Given the description of an element on the screen output the (x, y) to click on. 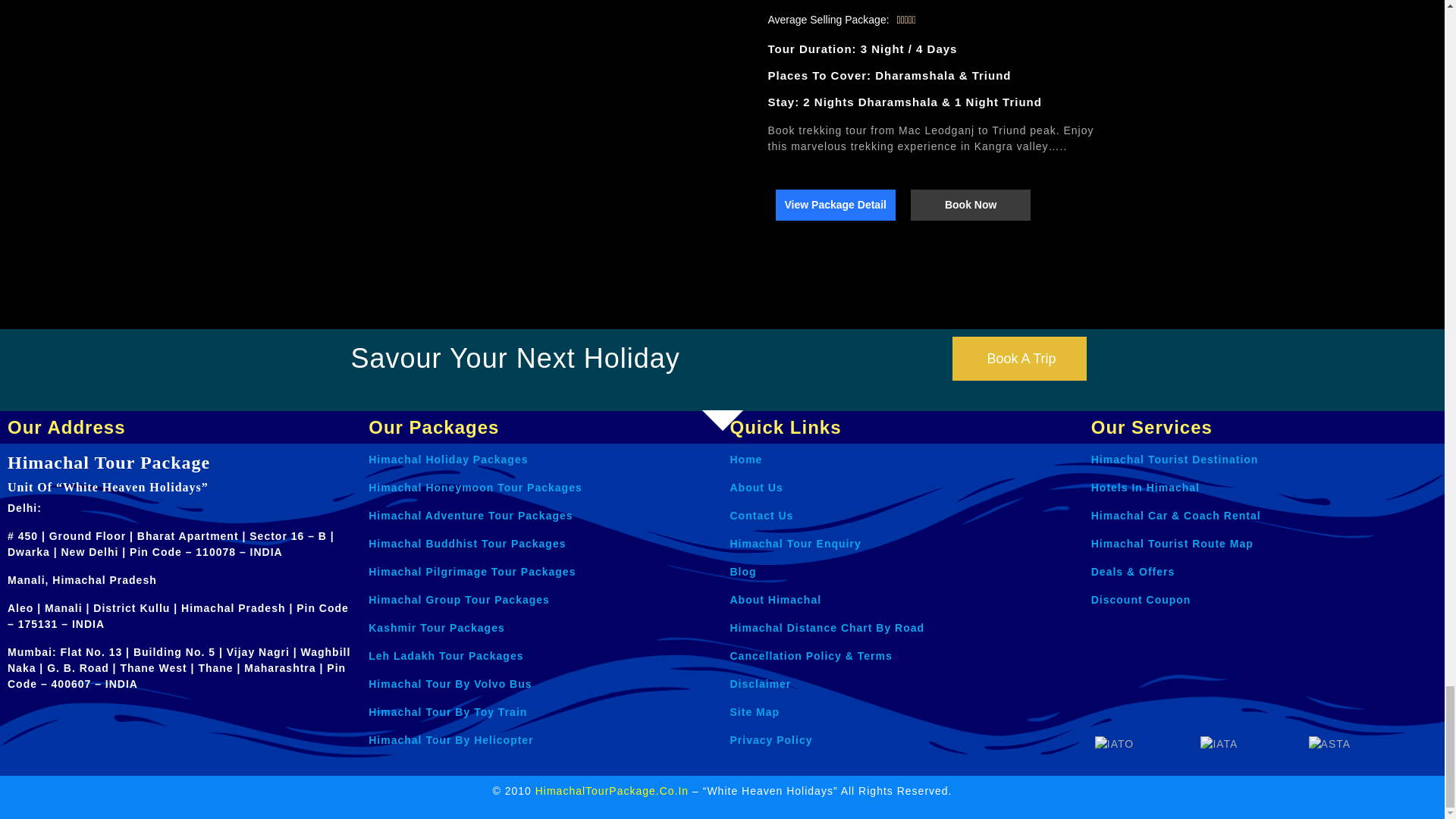
View Package Detail (834, 204)
Book A Trip (1019, 358)
Book Now (970, 204)
